Given the description of an element on the screen output the (x, y) to click on. 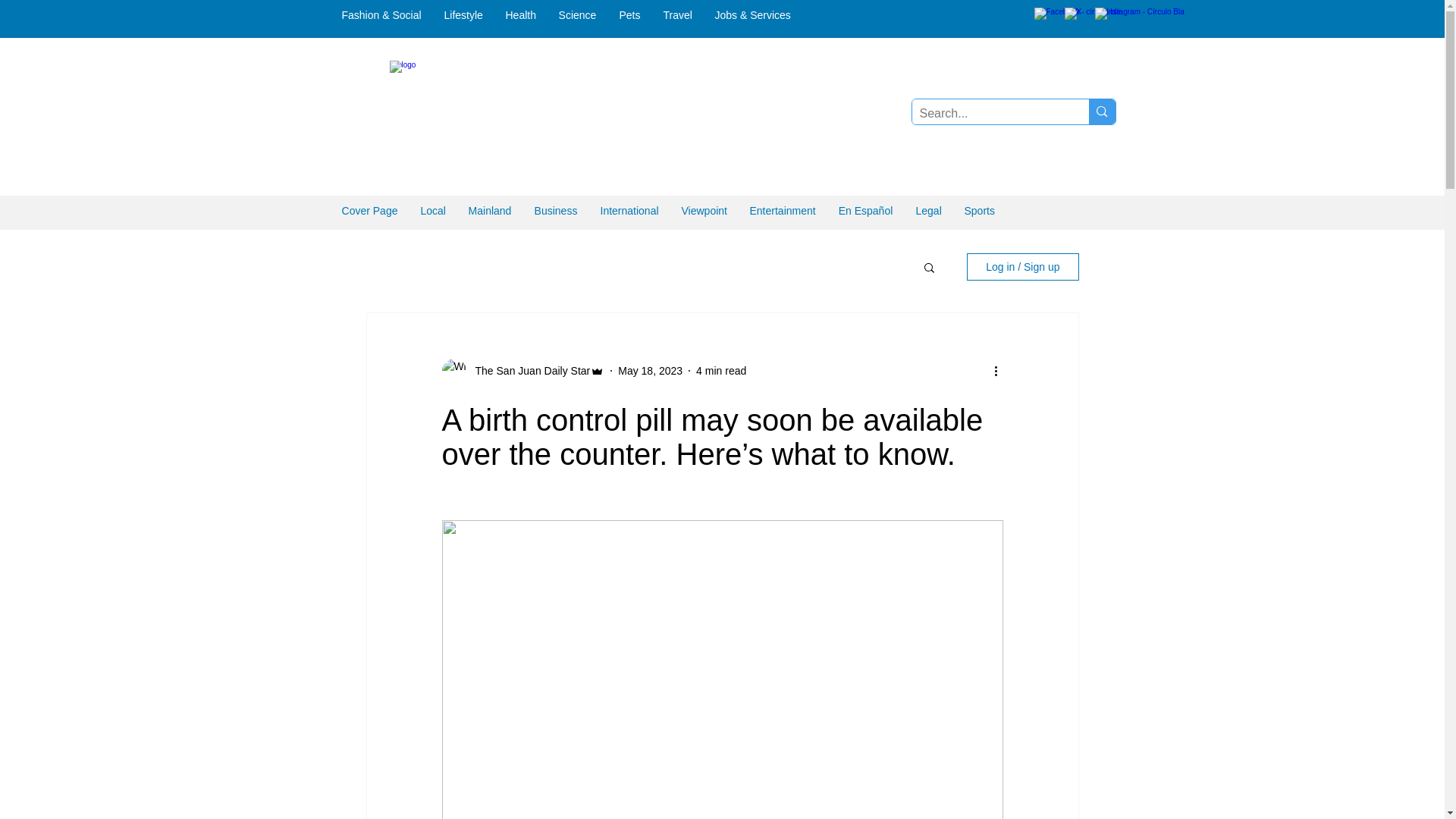
The San Juan Daily Star (527, 370)
Cover Page (369, 210)
Pets (630, 15)
Health (521, 15)
Local (433, 210)
Viewpoint (703, 210)
Mainland (489, 210)
International (628, 210)
4 min read (720, 369)
Lifestyle (462, 15)
